Given the description of an element on the screen output the (x, y) to click on. 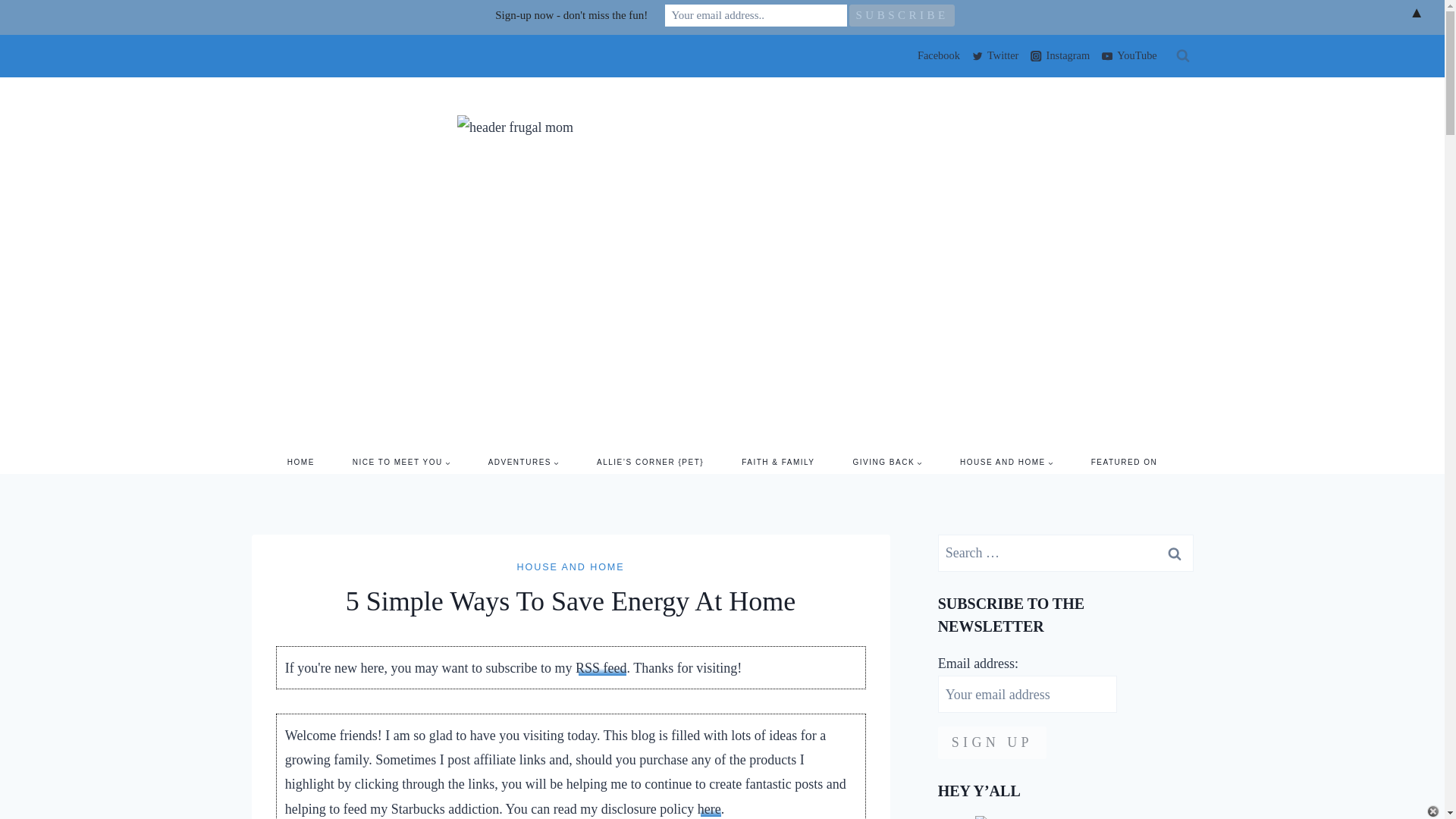
Twitter (995, 56)
Sign up (991, 742)
Instagram (1059, 56)
Search (1174, 552)
Search (1174, 552)
NICE TO MEET YOU (400, 462)
HOUSE AND HOME (1005, 462)
FEATURED ON (1123, 462)
GIVING BACK (888, 462)
Subscribe (901, 15)
YouTube (1128, 56)
Facebook (935, 56)
HOME (300, 462)
ADVENTURES (523, 462)
